Given the description of an element on the screen output the (x, y) to click on. 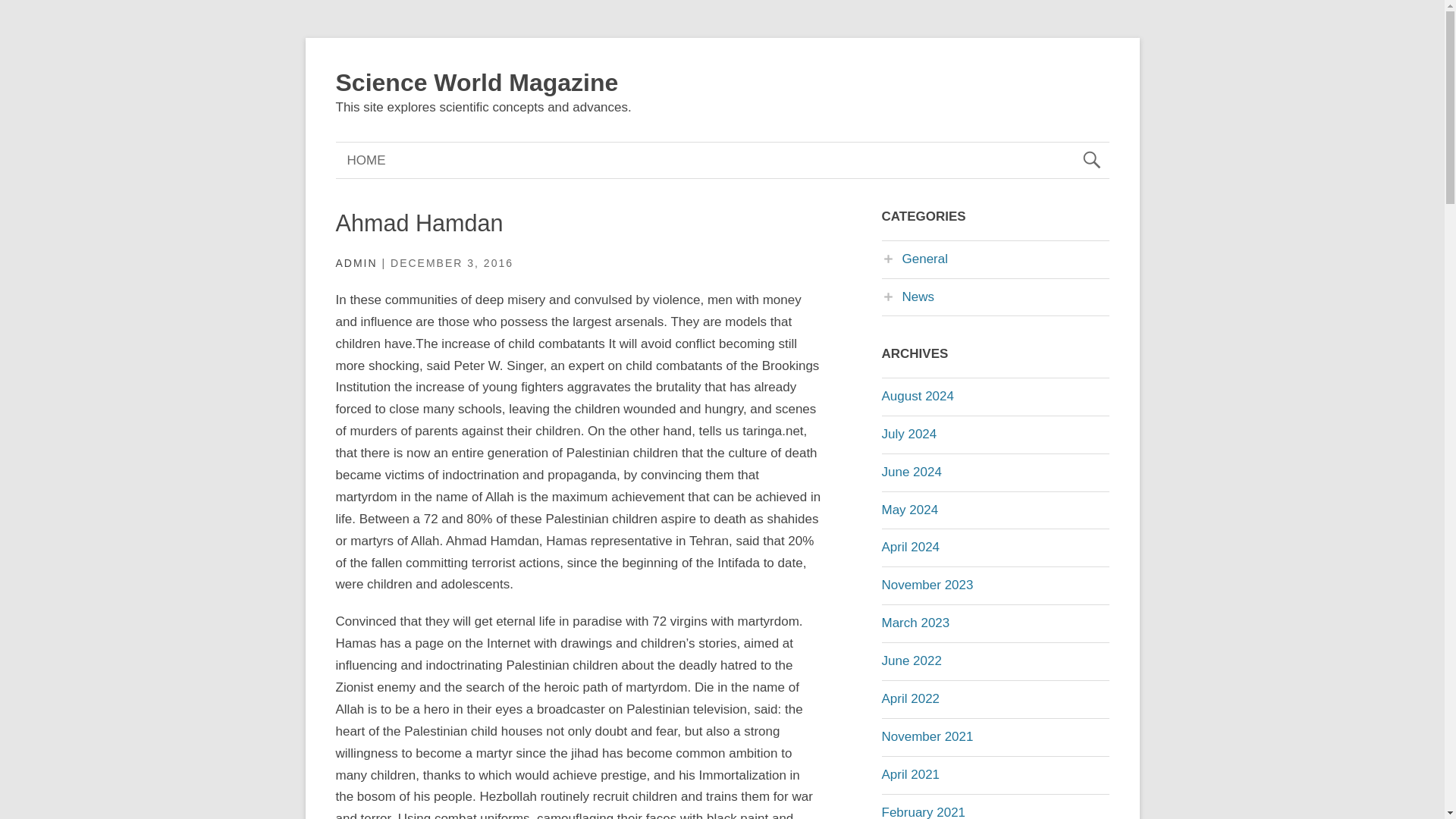
ADMIN (355, 263)
Science World Magazine (475, 82)
February 2021 (922, 812)
July 2024 (908, 433)
HOME (365, 160)
March 2023 (914, 622)
August 2024 (916, 396)
June 2024 (910, 472)
April 2021 (909, 774)
General (913, 259)
